Given the description of an element on the screen output the (x, y) to click on. 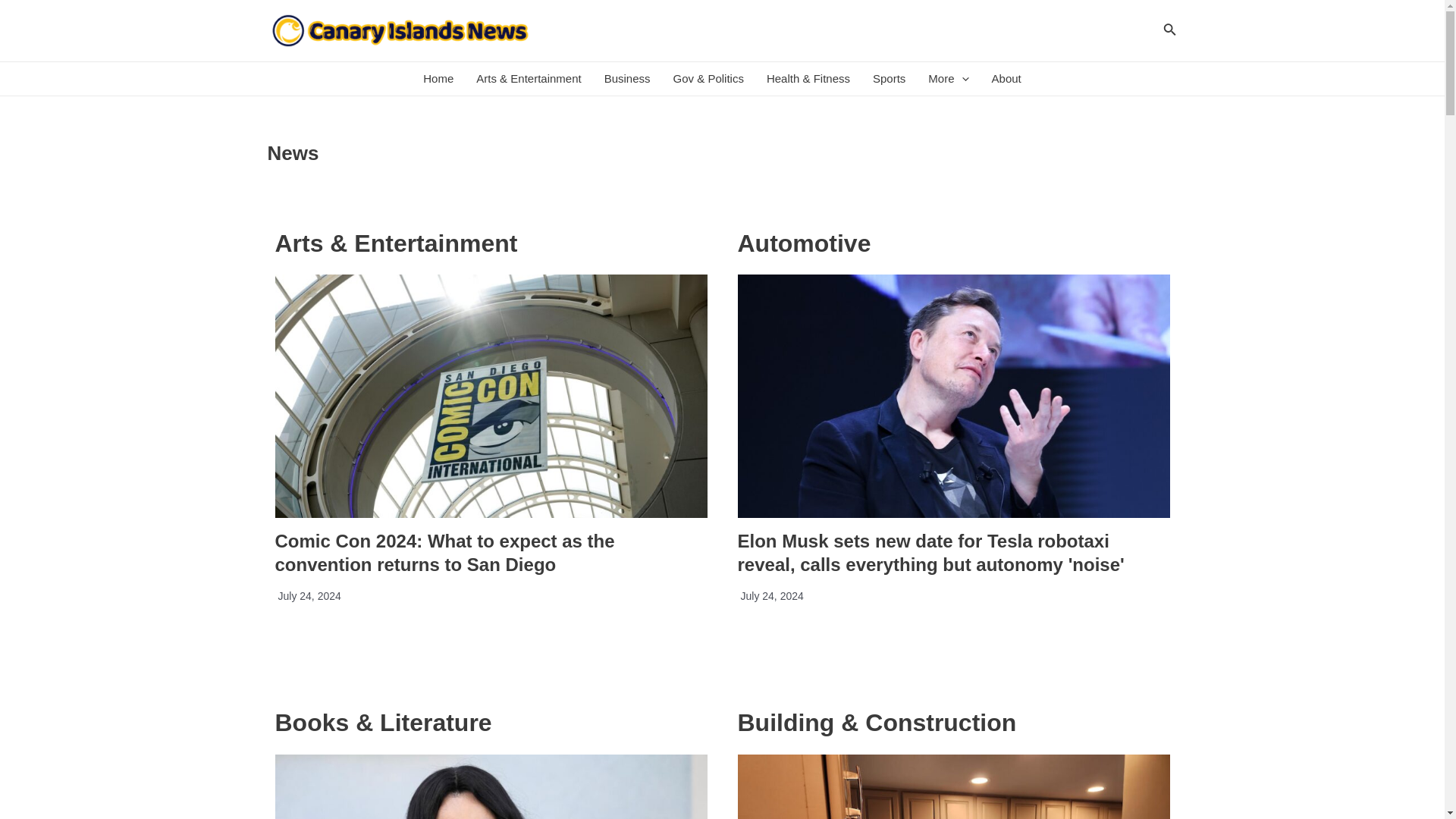
About (1005, 78)
Home (438, 78)
Business (627, 78)
More (948, 78)
Sports (889, 78)
